Given the description of an element on the screen output the (x, y) to click on. 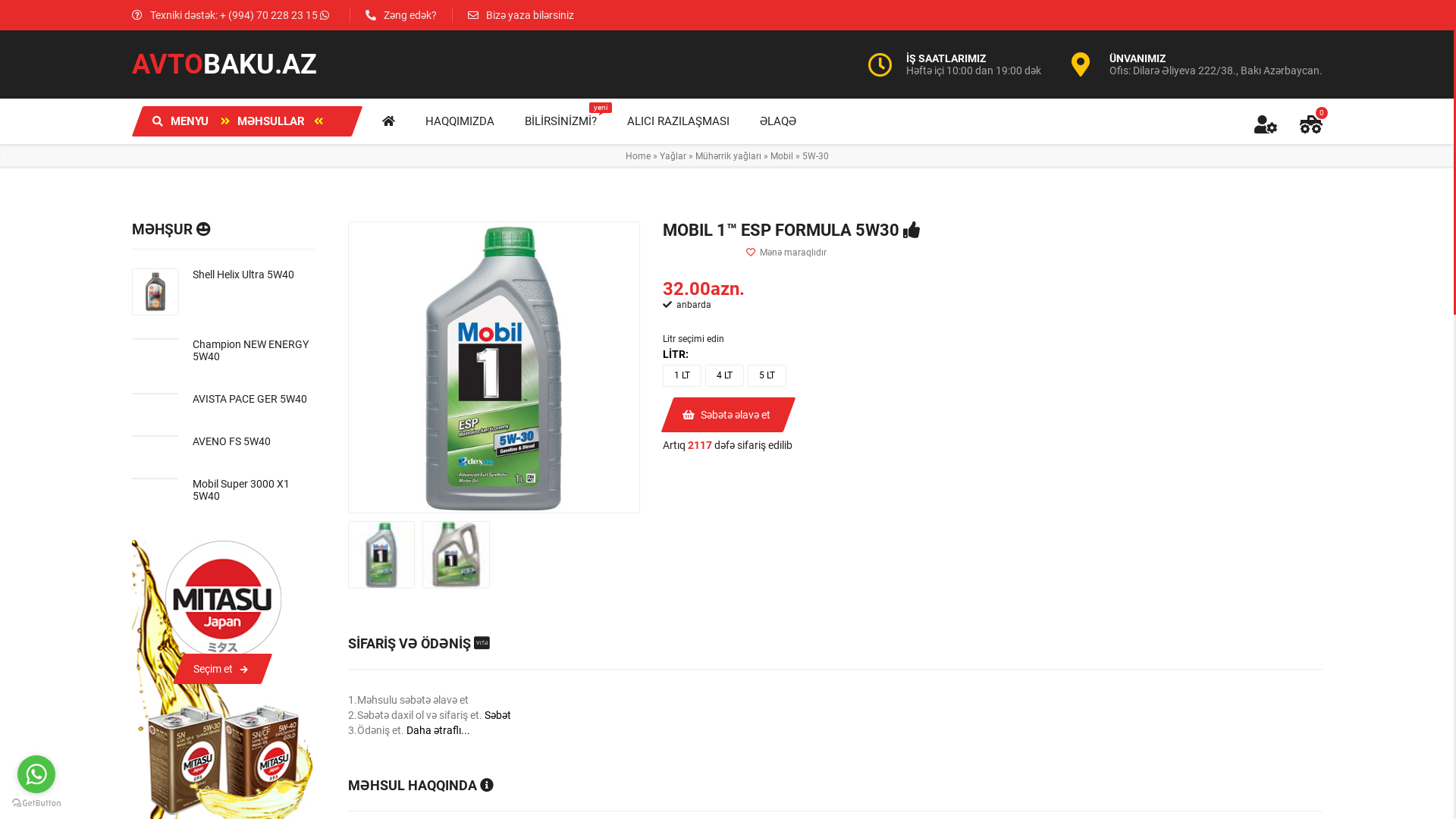
Add to Wish List Element type: hover (786, 252)
1 Element type: text (668, 252)
Home Element type: text (636, 155)
HAQQIMIZDA Element type: text (458, 121)
5 Element type: text (717, 252)
AVTOBAKU.AZ Element type: text (223, 64)
5W-30 Element type: text (815, 155)
Champion NEW ENERGY 5W40 Element type: text (252, 350)
4 Element type: text (705, 252)
AVENO FS 5W40 Element type: text (252, 441)
Shell Helix Ultra 5W40 Element type: text (252, 274)
Mobil Element type: text (781, 155)
3 Element type: text (693, 252)
Mobil Super 3000 X1 5W40 Element type: text (252, 489)
2 Element type: text (680, 252)
AVISTA PACE GER 5W40 Element type: text (252, 398)
